Given the description of an element on the screen output the (x, y) to click on. 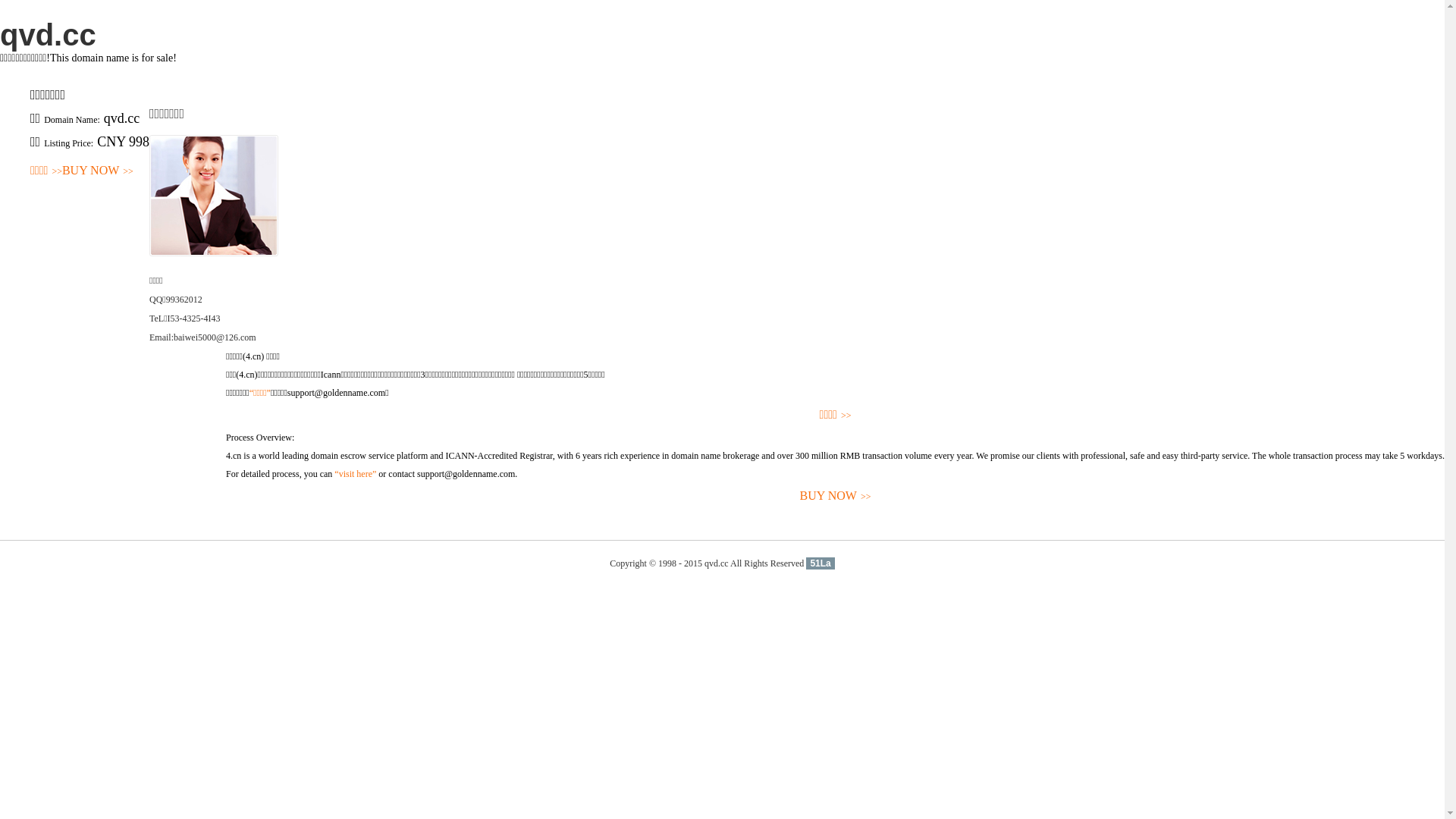
51La Element type: text (820, 563)
BUY NOW>> Element type: text (97, 170)
BUY NOW>> Element type: text (834, 496)
